Given the description of an element on the screen output the (x, y) to click on. 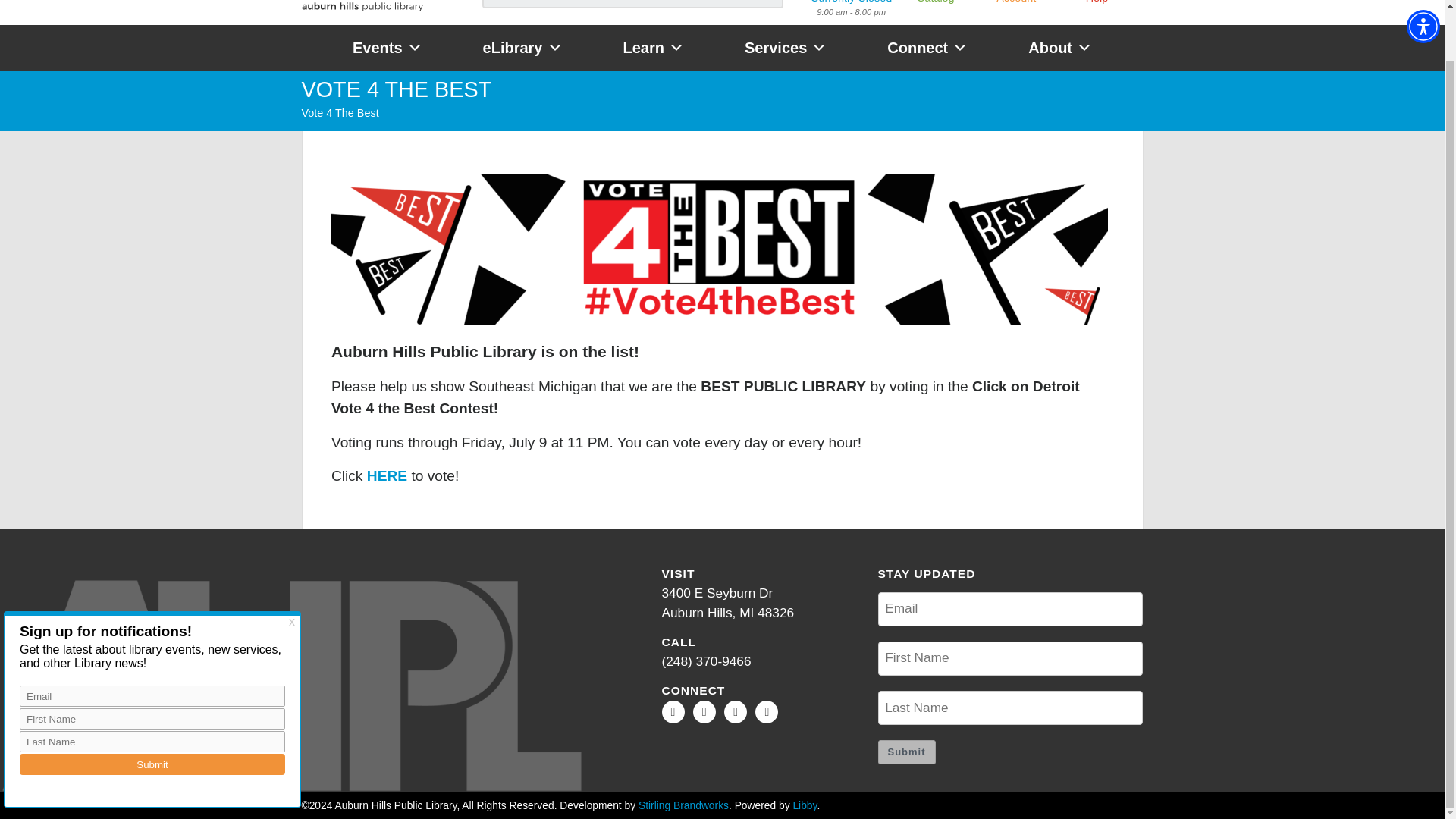
Connect (927, 47)
Help (1096, 3)
Catalog (935, 3)
Events (386, 47)
Services (785, 47)
Account (1015, 3)
Auburn Hills Public Library Home (362, 9)
eLibrary (522, 47)
Directions to Library (727, 602)
Learn (653, 47)
